Given the description of an element on the screen output the (x, y) to click on. 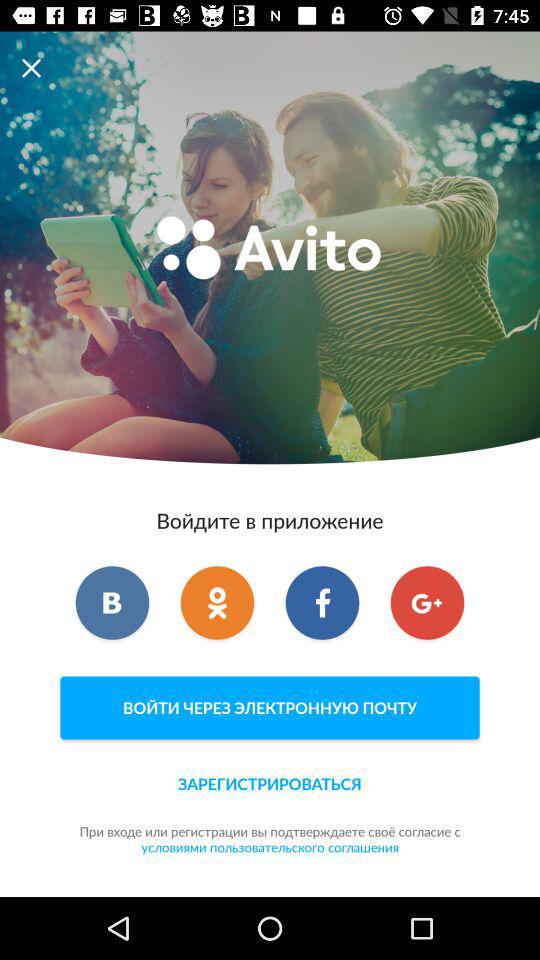
launch item at the top left corner (36, 67)
